Given the description of an element on the screen output the (x, y) to click on. 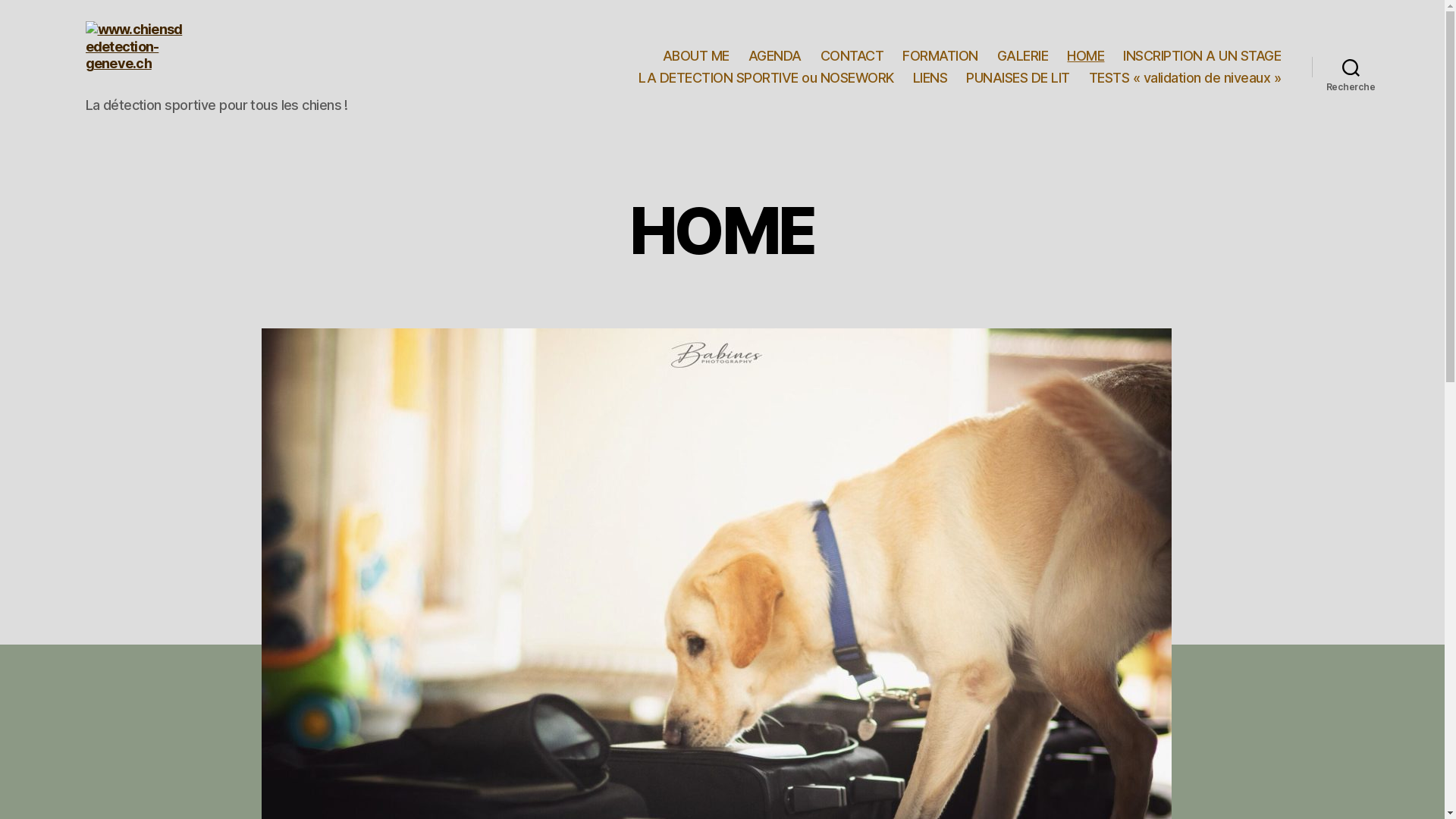
FORMATION Element type: text (940, 55)
GALERIE Element type: text (1022, 55)
ABOUT ME Element type: text (695, 55)
LIENS Element type: text (930, 77)
CONTACT Element type: text (852, 55)
HOME Element type: text (1085, 55)
INSCRIPTION A UN STAGE Element type: text (1201, 55)
Recherche Element type: text (1350, 66)
AGENDA Element type: text (774, 55)
LA DETECTION SPORTIVE ou NOSEWORK Element type: text (766, 77)
PUNAISES DE LIT Element type: text (1018, 77)
